Given the description of an element on the screen output the (x, y) to click on. 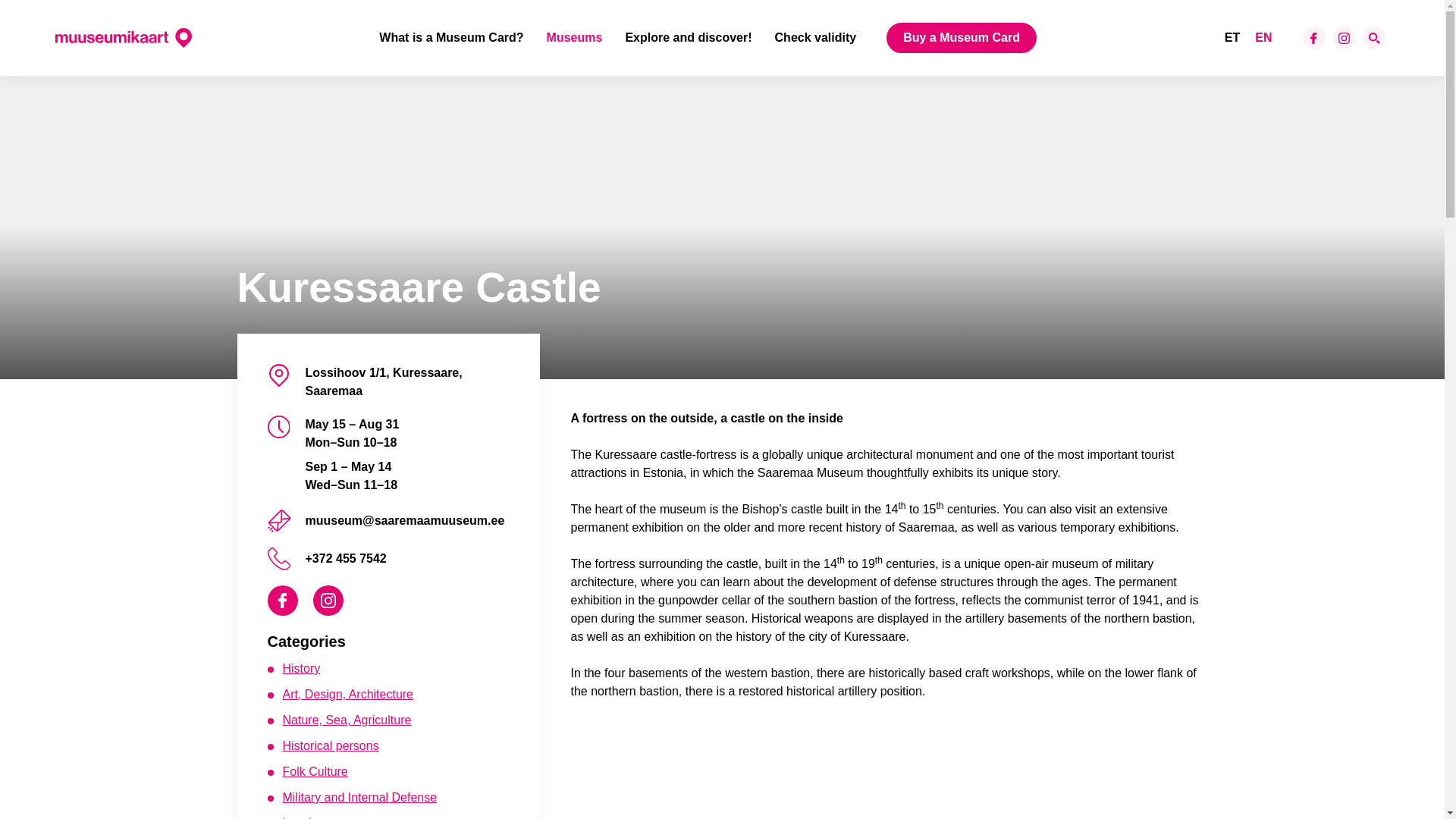
Historical persons (330, 745)
Folk Culture (314, 771)
History (301, 667)
EN (1263, 37)
Buy a Museum Card (961, 37)
Explore and discover! (687, 37)
What is a Museum Card? (450, 37)
Military and Internal Defense (359, 797)
Art, Design, Architecture (347, 694)
Museums (574, 37)
